Given the description of an element on the screen output the (x, y) to click on. 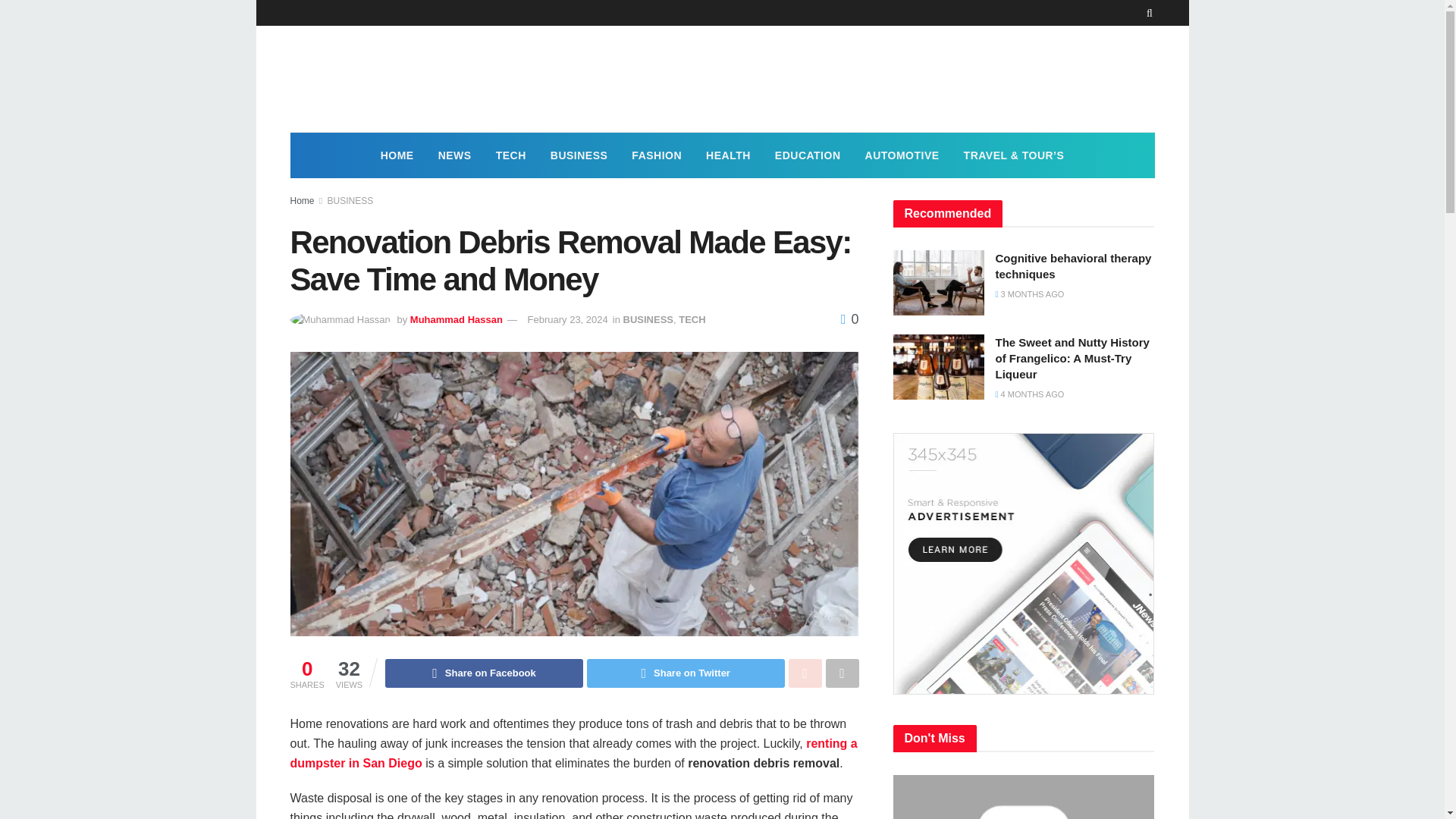
AUTOMOTIVE (902, 155)
FASHION (657, 155)
0 (850, 319)
Muhammad Hassan (456, 319)
NEWS (454, 155)
BUSINESS (647, 319)
HOME (397, 155)
Home (301, 200)
Share on Twitter (685, 673)
HEALTH (728, 155)
EDUCATION (807, 155)
Share on Facebook (484, 673)
BUSINESS (350, 200)
TECH (510, 155)
BUSINESS (579, 155)
